Given the description of an element on the screen output the (x, y) to click on. 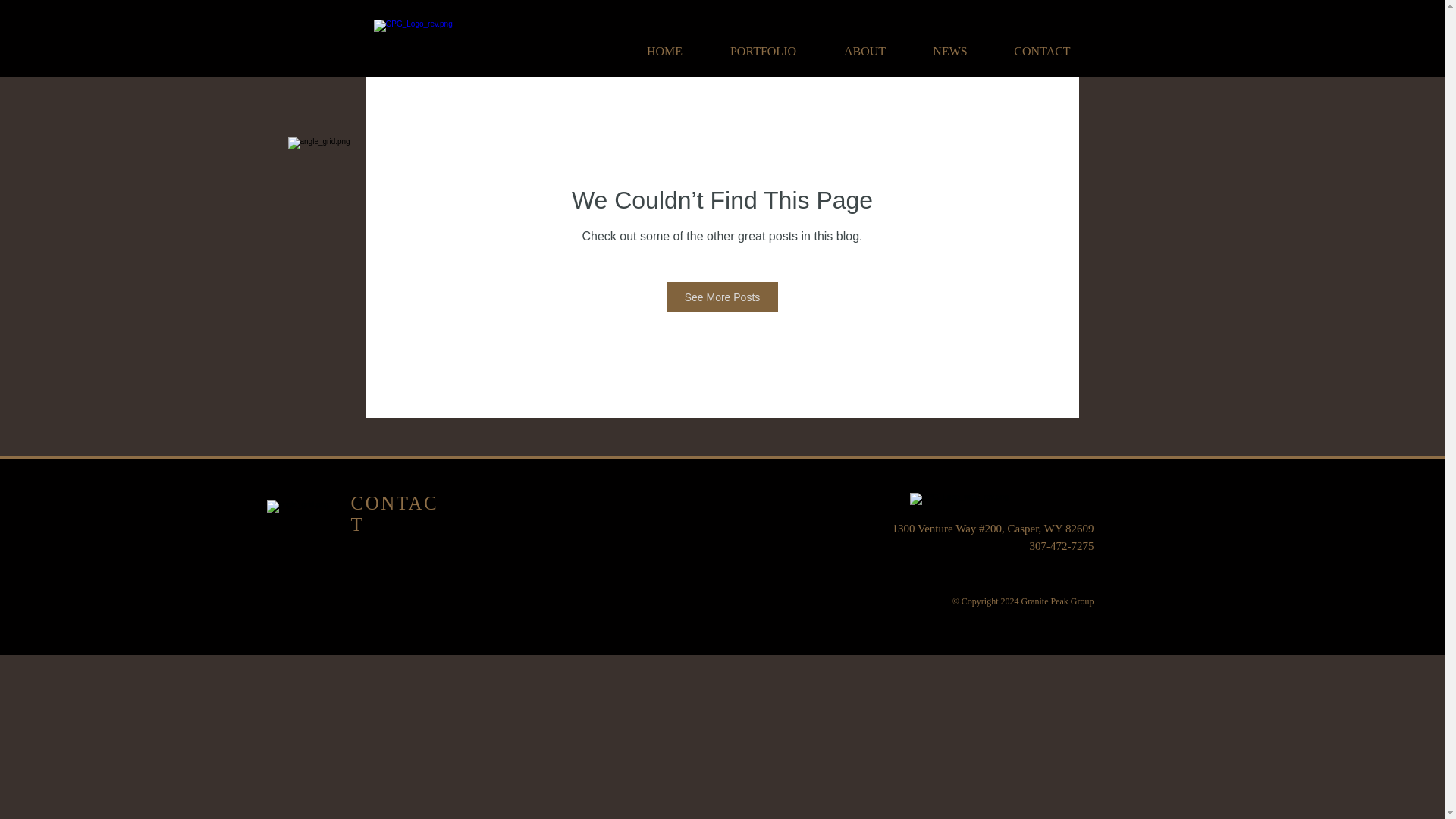
CONTACT (1041, 44)
307-472-7275 (1061, 545)
CONTACT (394, 513)
See More Posts (722, 296)
HOME (664, 44)
NEWS (950, 44)
ABOUT (865, 44)
PORTFOLIO (763, 44)
